Given the description of an element on the screen output the (x, y) to click on. 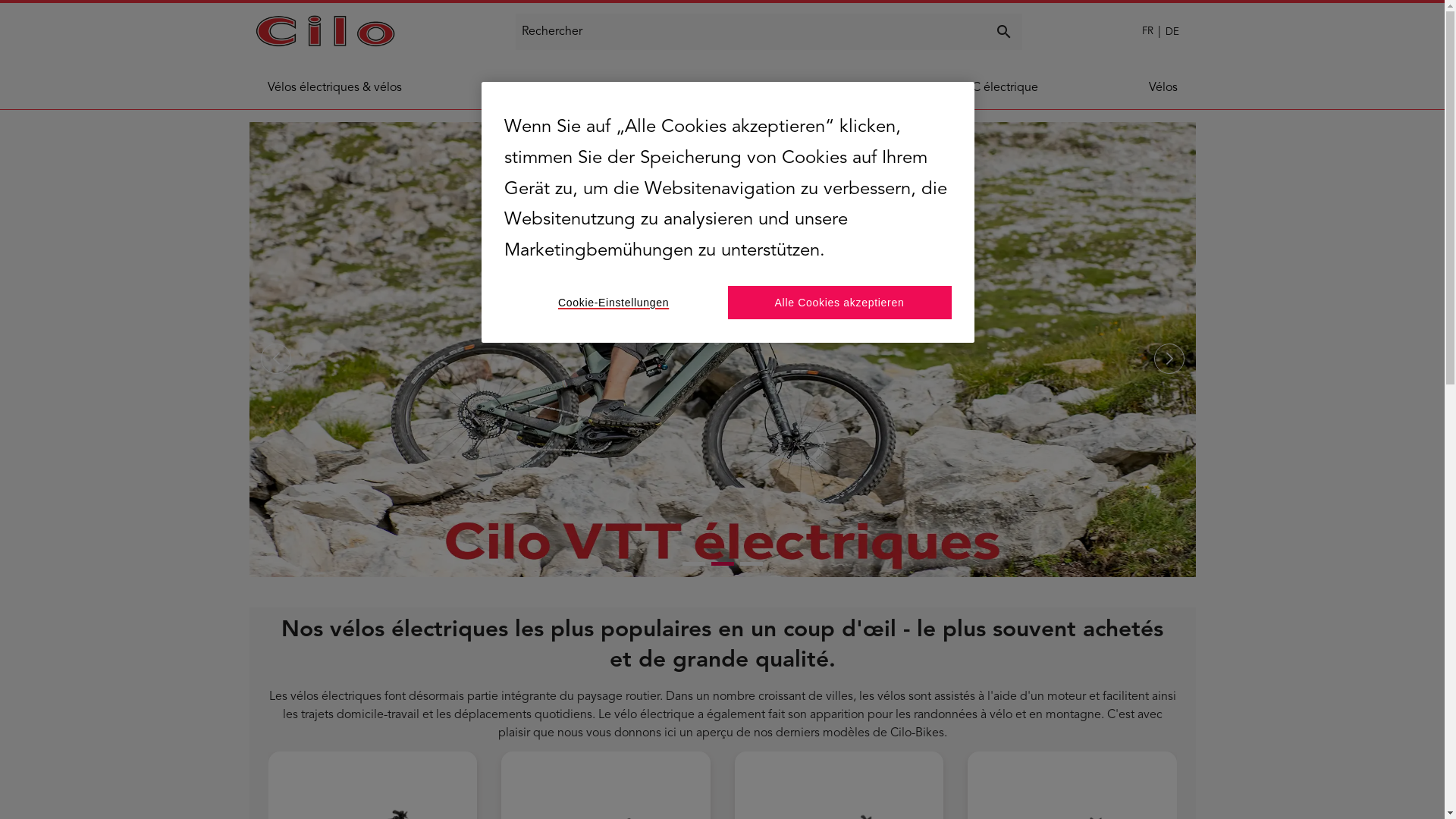
Alle Cookies akzeptieren Element type: text (839, 302)
DE Element type: text (1171, 31)
search Element type: text (1003, 31)
FR Element type: text (1147, 31)
Cookie-Einstellungen Element type: text (613, 302)
